Given the description of an element on the screen output the (x, y) to click on. 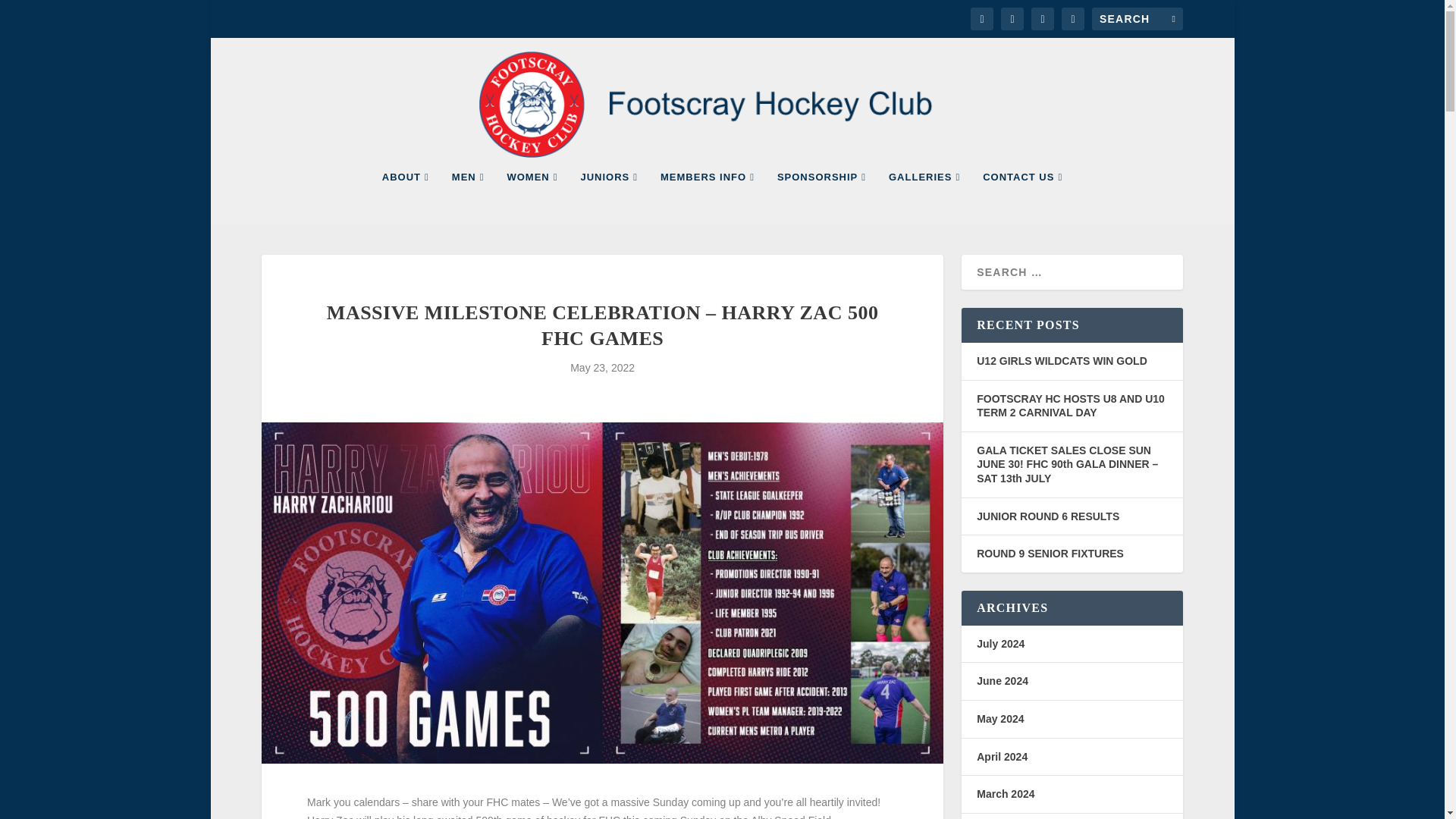
WOMEN (531, 197)
